Given the description of an element on the screen output the (x, y) to click on. 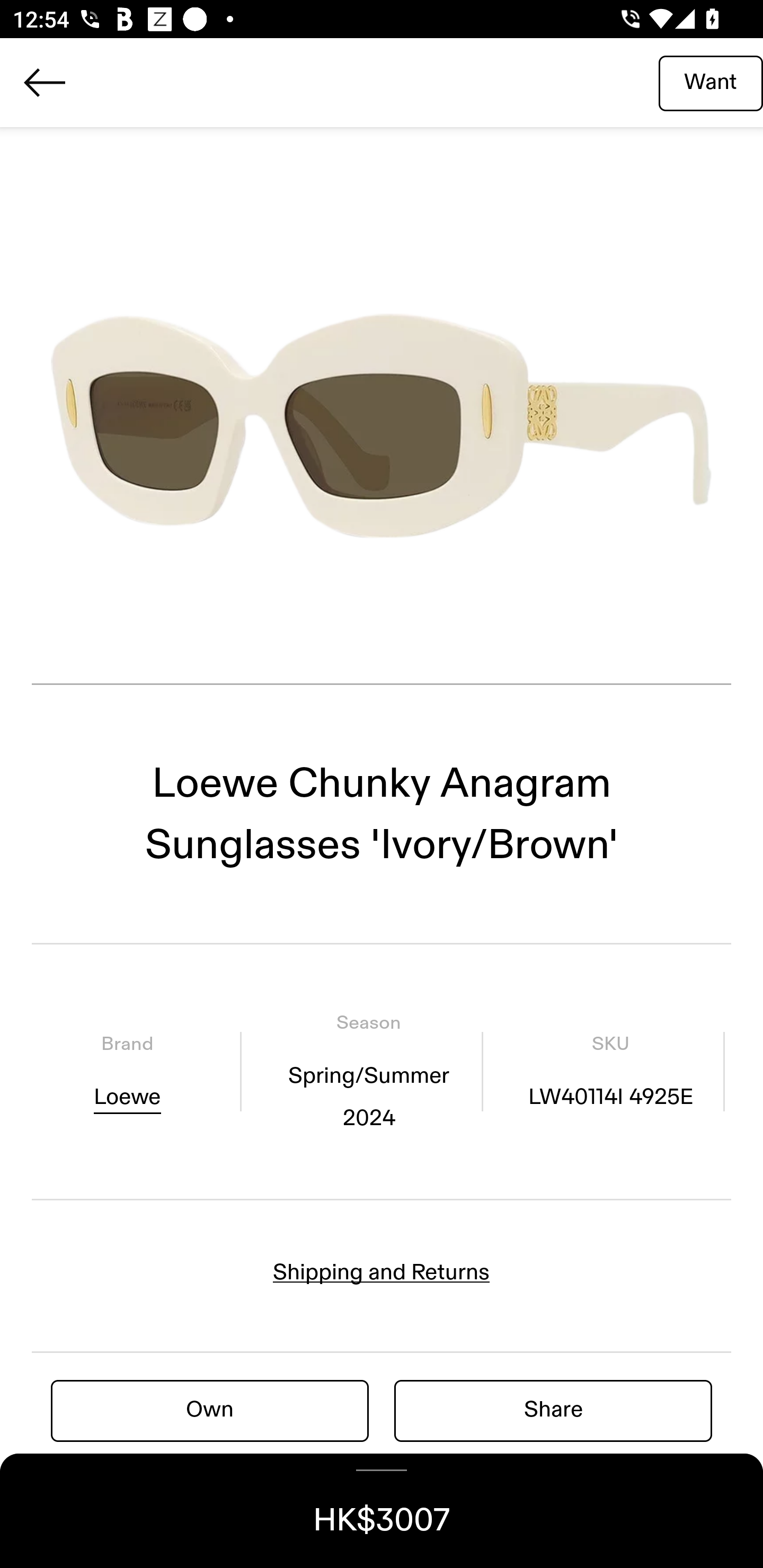
Want (710, 82)
Brand Loewe (126, 1070)
Season Spring/Summer 2024 (368, 1070)
SKU LW40114I 4925E (609, 1070)
Shipping and Returns (381, 1272)
Own (209, 1410)
Share (552, 1410)
HK$3007 (381, 1510)
